Given the description of an element on the screen output the (x, y) to click on. 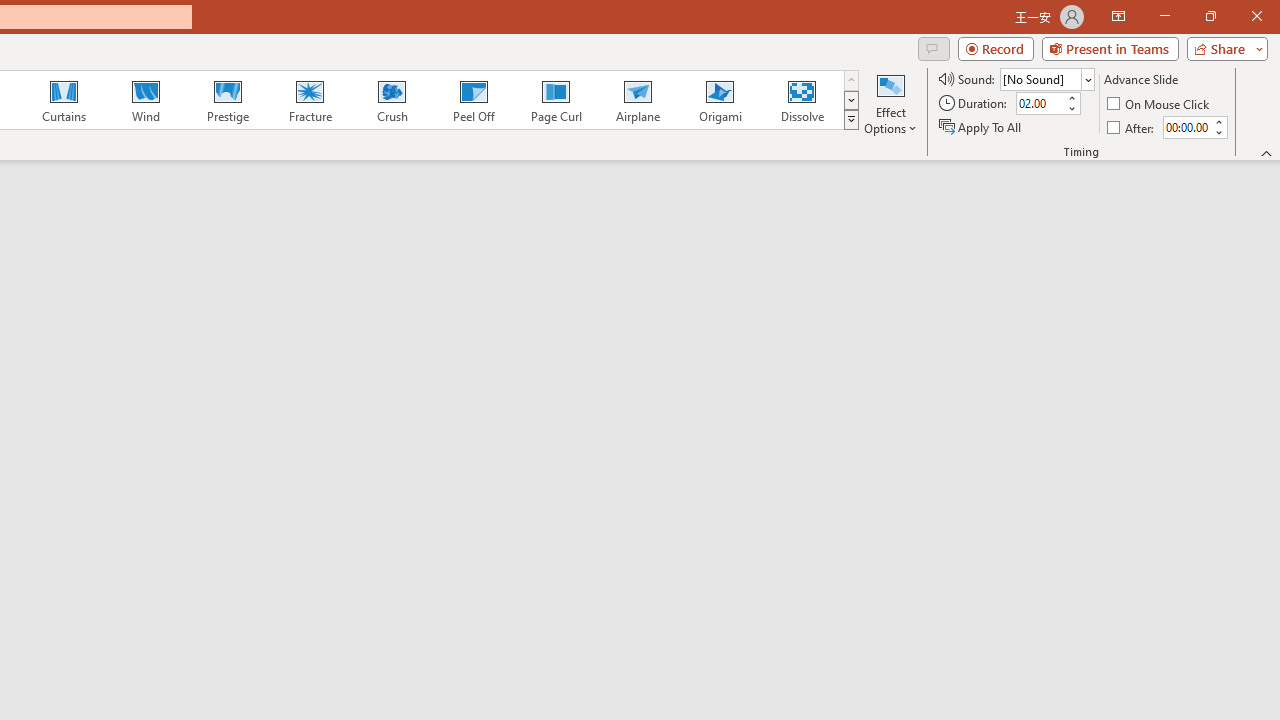
Apply To All (981, 126)
Wind (145, 100)
Transition Effects (850, 120)
On Mouse Click (1159, 103)
Duration (1039, 103)
